Given the description of an element on the screen output the (x, y) to click on. 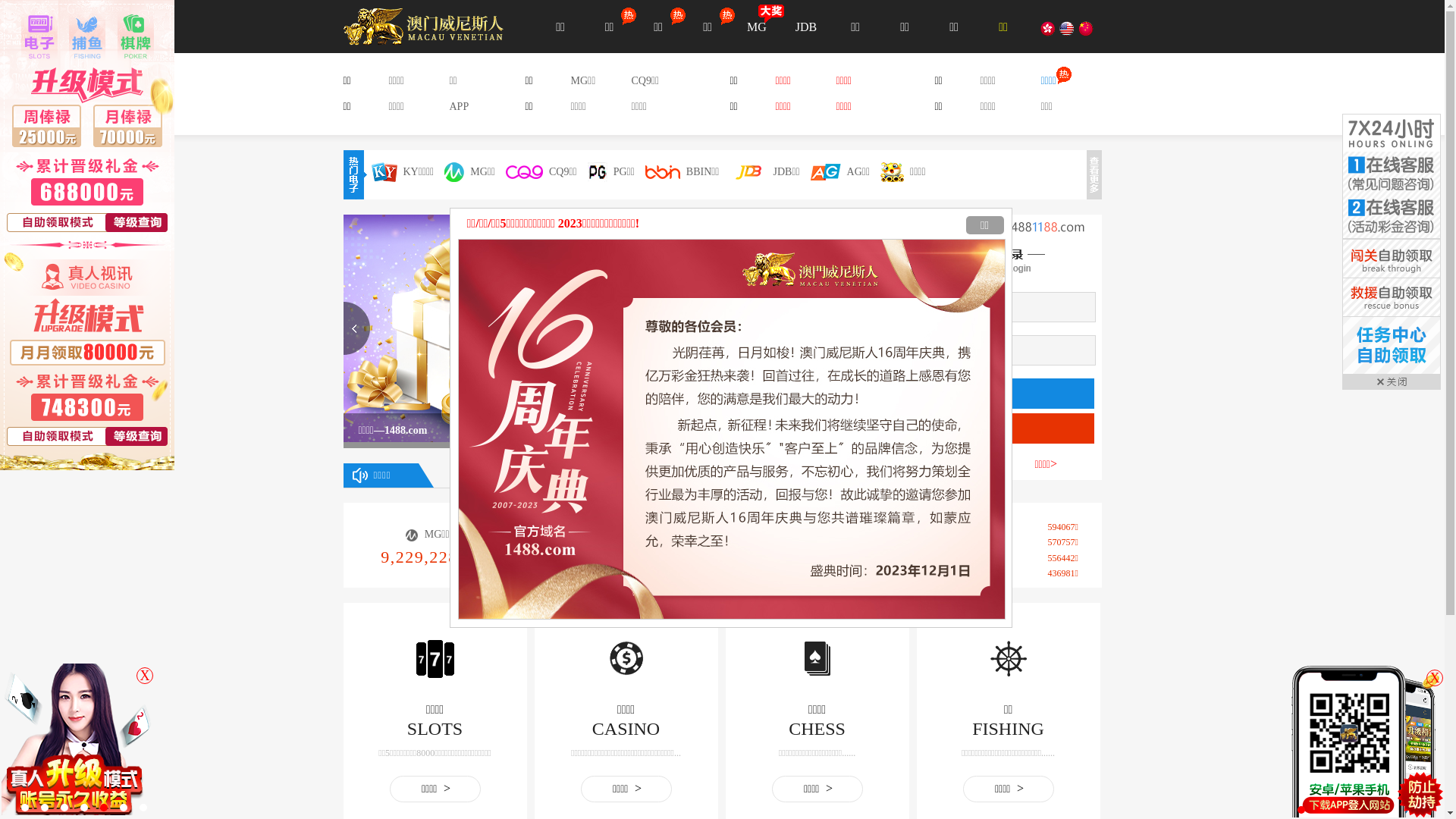
JDB Element type: text (805, 26)
APP Element type: text (458, 106)
X Element type: text (1434, 677)
X Element type: text (144, 675)
MG Element type: text (756, 26)
